Given the description of an element on the screen output the (x, y) to click on. 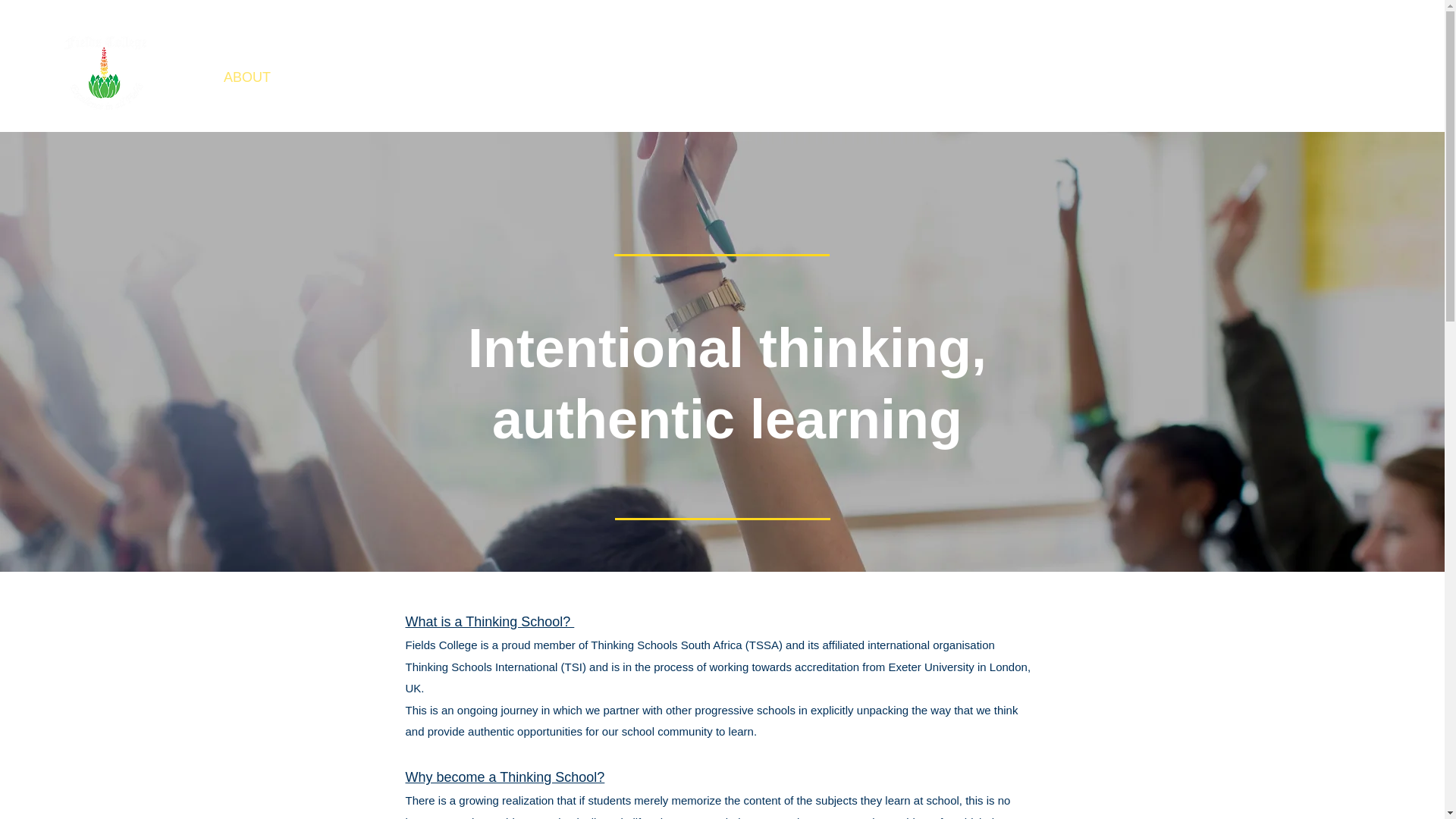
PARENTS ONLY (904, 77)
PRIMARY SCHOOL (350, 77)
ADMISSIONS (586, 77)
HOME (181, 77)
HIGH SCHOOL (477, 77)
CONTACT (800, 77)
FAQ (734, 77)
ABOUT (246, 77)
ALUMNI (675, 77)
